Given the description of an element on the screen output the (x, y) to click on. 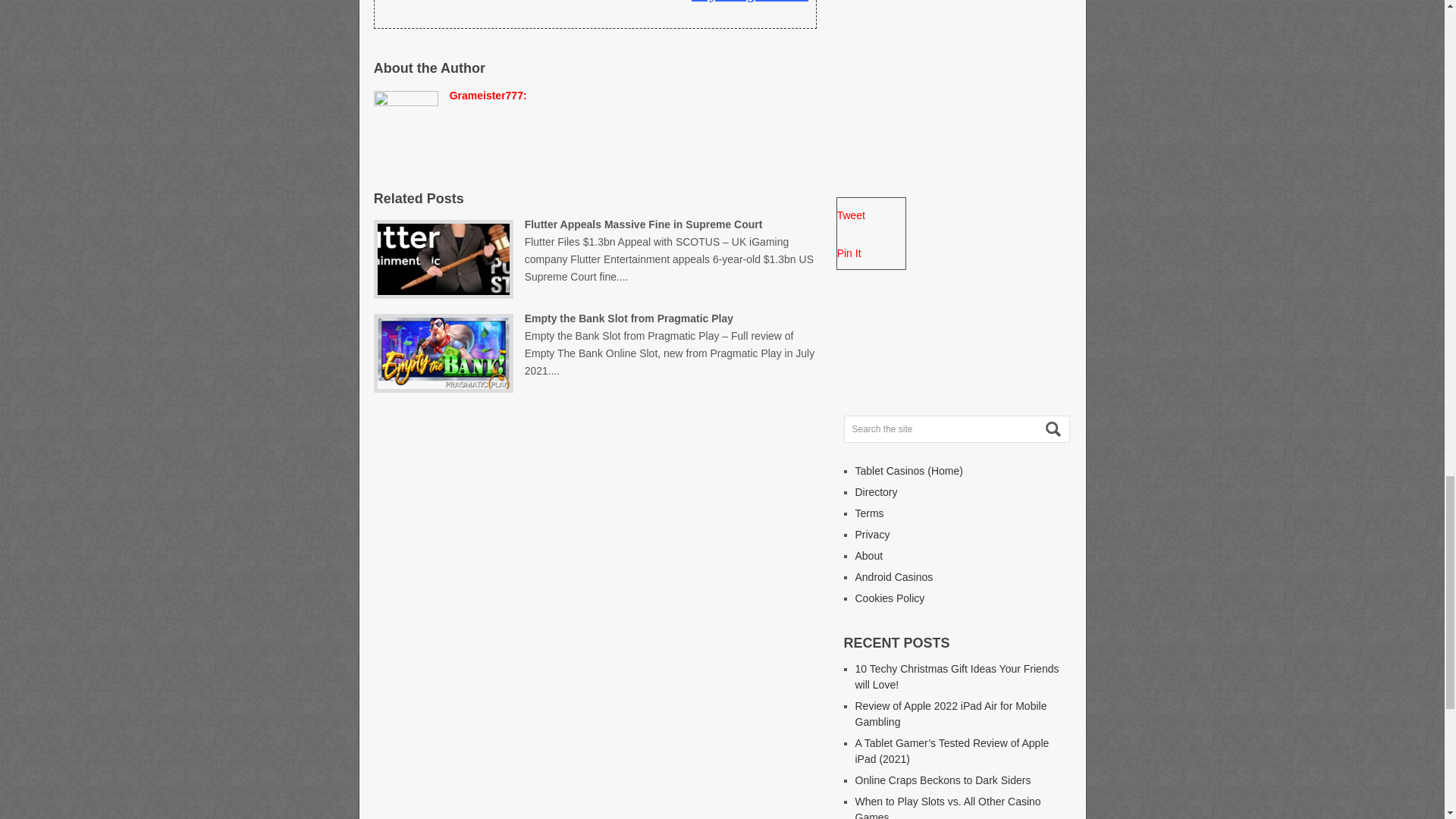
RoyalVegas.com  (749, 1)
Cookies Policy (890, 598)
Review of Apple 2022 iPad Air for Mobile Gambling (951, 714)
Empty the Bank Slot from Pragmatic Play (669, 344)
When to Play Slots vs. All Other Casino Games (948, 807)
Privacy (872, 534)
Directory (877, 491)
Android Casinos (894, 576)
Flutter Appeals Massive Fine in Supreme Court (668, 250)
Search the site (956, 429)
Online Craps Beckons to Dark Siders (943, 779)
Terms (869, 512)
About (869, 555)
10 Techy Christmas Gift Ideas Your Friends will Love! (957, 676)
